Given the description of an element on the screen output the (x, y) to click on. 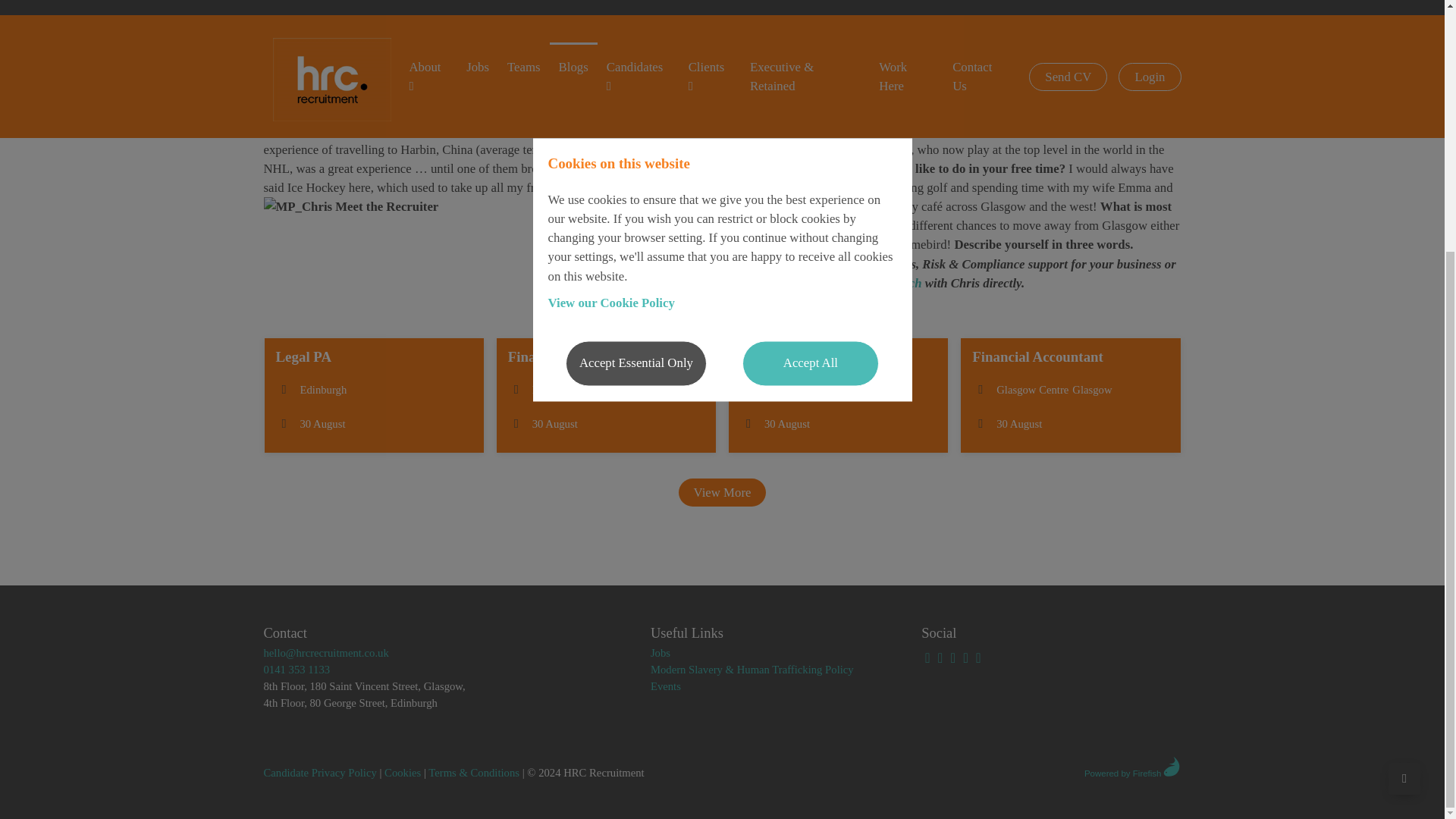
Finance Assistant (838, 395)
Legal PA (373, 395)
Financial Accountant (606, 395)
Recruitment Software - Firefish Software (1069, 768)
Recruitment Software - Firefish Software (1170, 766)
Financial Accountant (1069, 395)
Recruitment Software - Firefish Software (1132, 767)
